Given the description of an element on the screen output the (x, y) to click on. 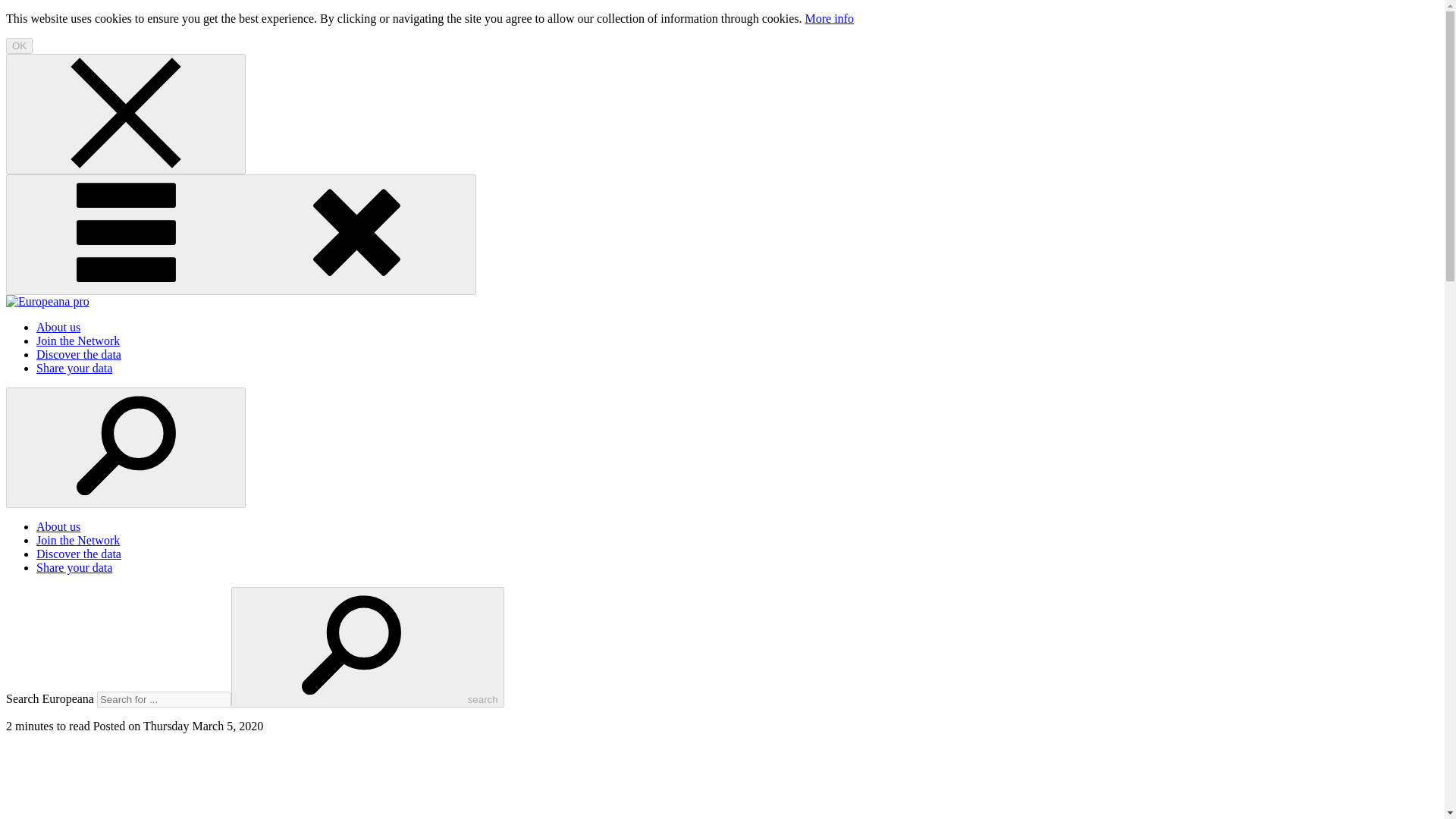
Share your data (74, 367)
About us (58, 526)
OK (18, 45)
About us (58, 327)
Join the network (77, 540)
Share your data (74, 567)
Share your data (74, 567)
More info (829, 18)
Discover the data (78, 553)
About us (58, 526)
About us (58, 327)
Join the Network (77, 340)
Share your data (74, 367)
Discover the data (78, 354)
Join the network (77, 340)
